Given the description of an element on the screen output the (x, y) to click on. 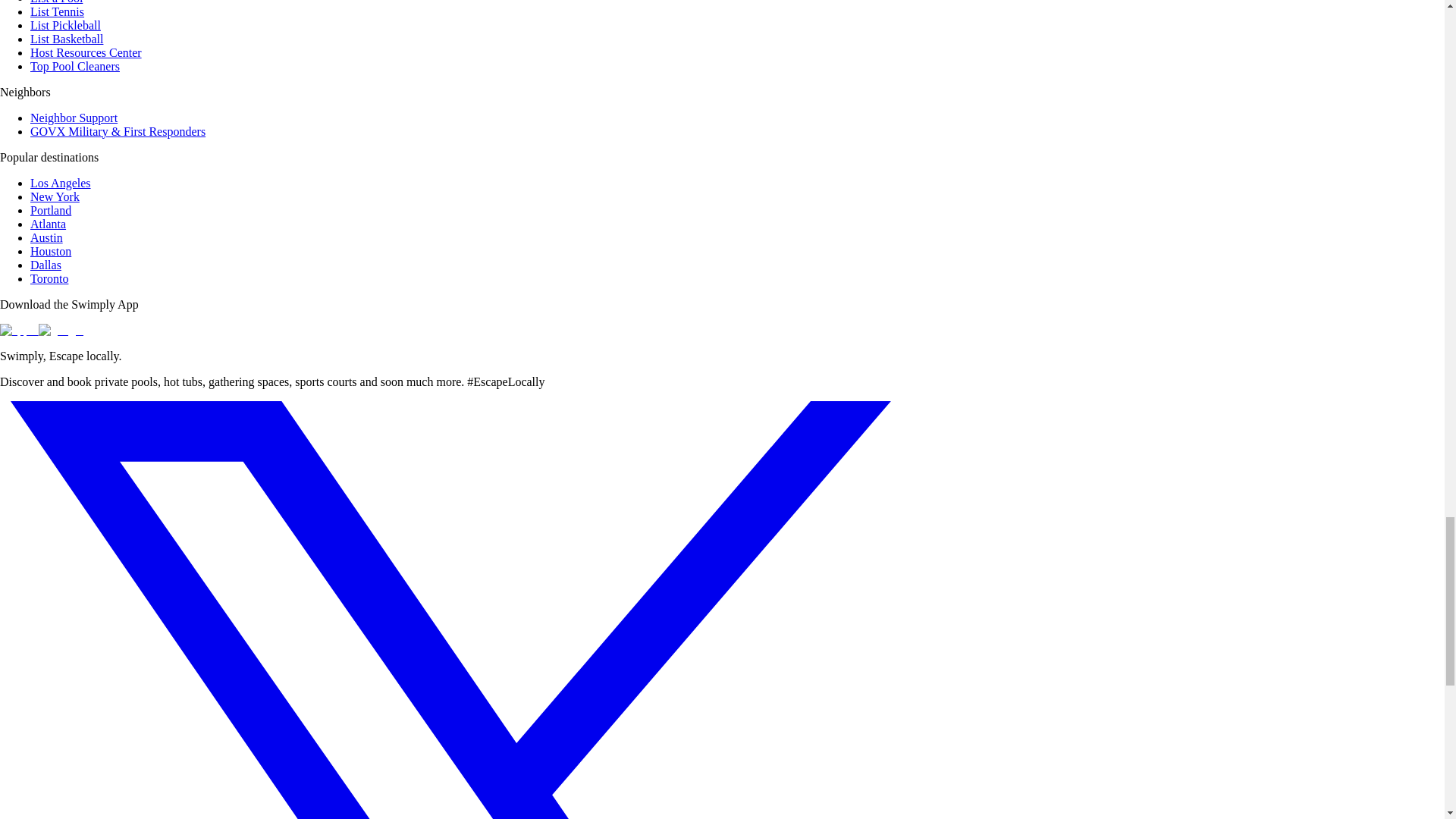
List a Pool (56, 2)
List Pickleball (65, 24)
List Tennis (57, 11)
